Given the description of an element on the screen output the (x, y) to click on. 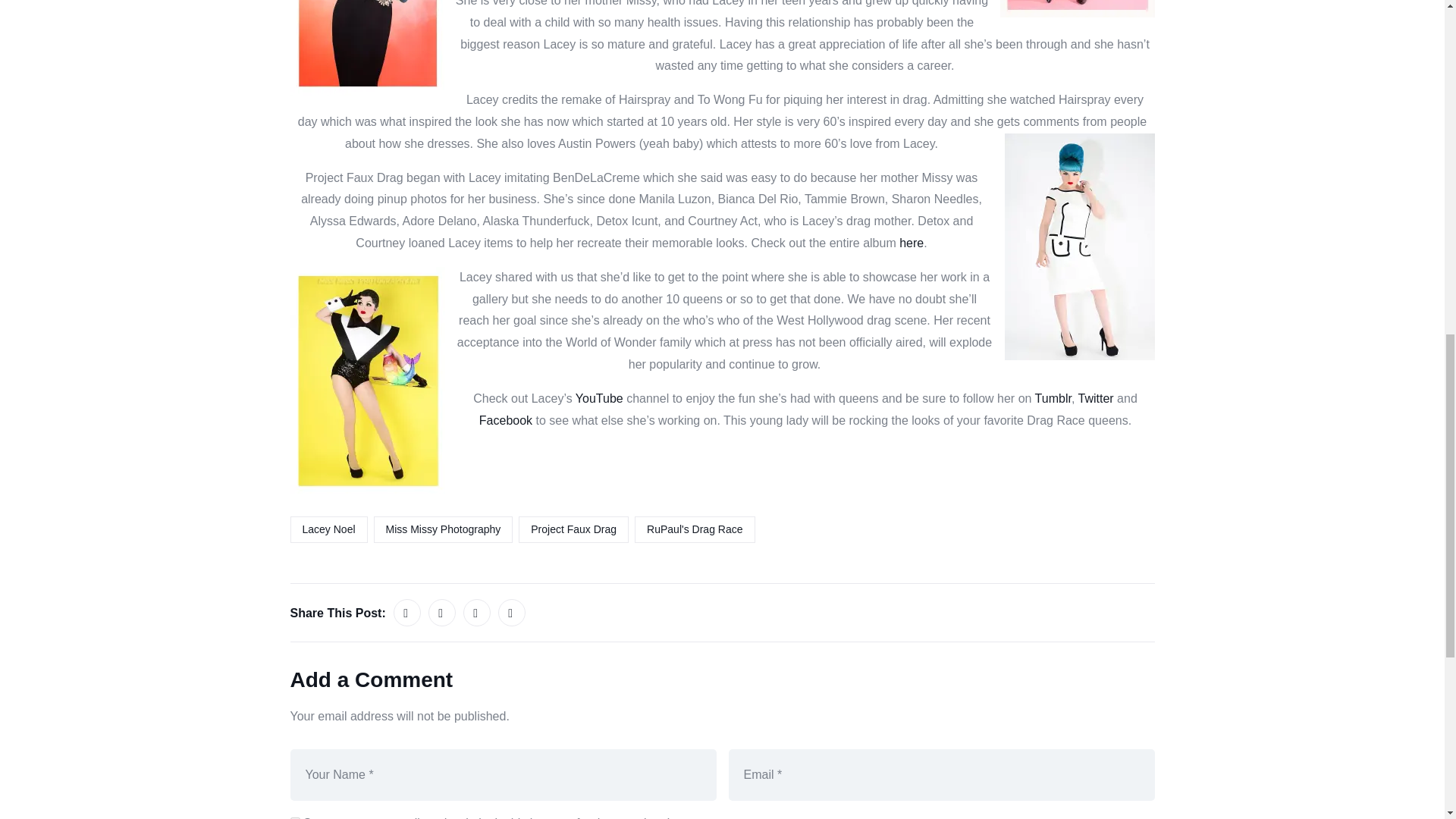
Twitter (1095, 398)
here (911, 242)
Tumblr (1053, 398)
YouTube (599, 398)
